Given the description of an element on the screen output the (x, y) to click on. 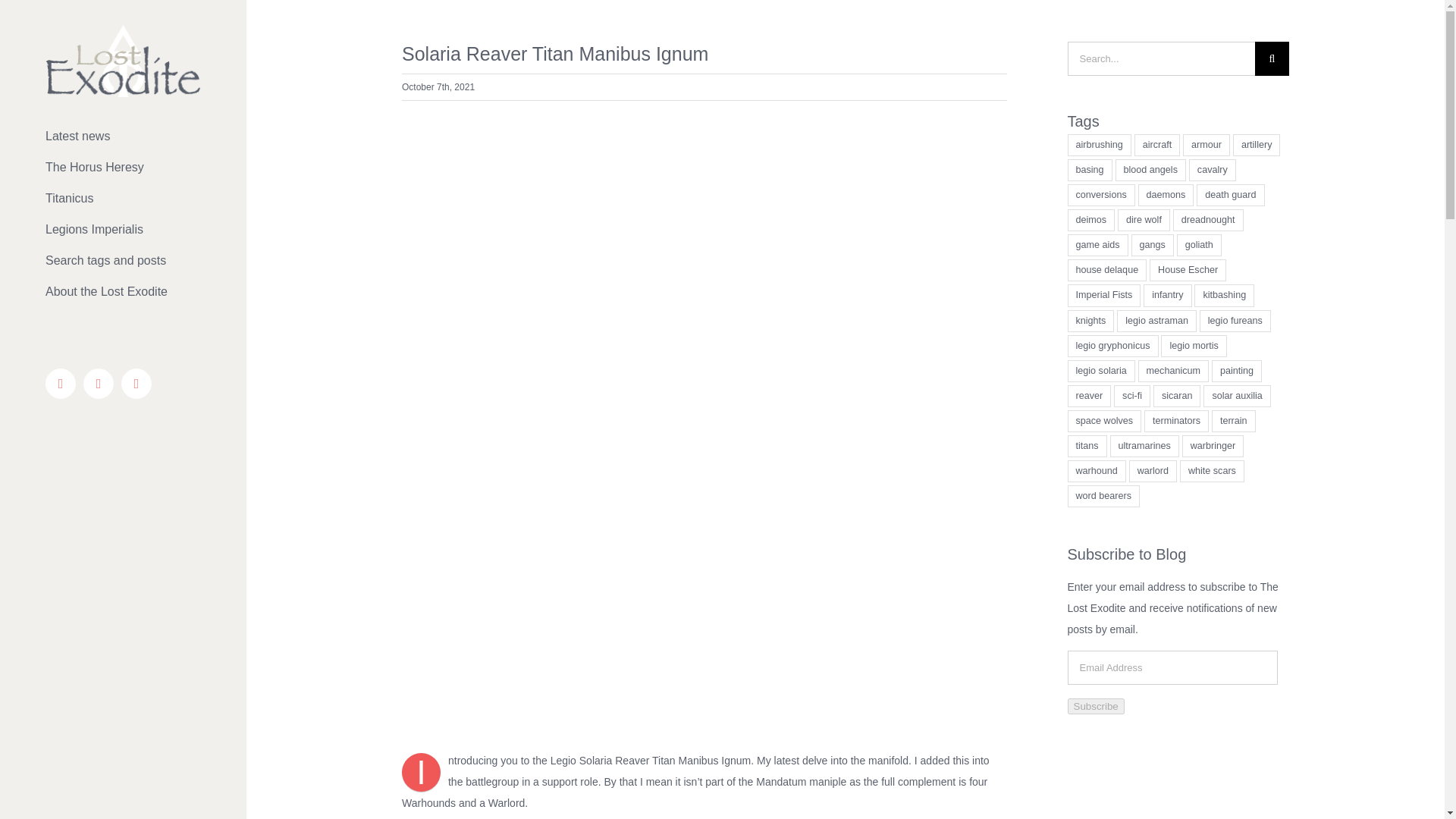
Search tags and posts (123, 260)
The Horus Heresy (123, 167)
armour (1206, 145)
YouTube (135, 383)
Titanicus (123, 198)
Facebook (60, 383)
YouTube (135, 383)
Instagram (97, 383)
Legions Imperialis (123, 229)
Latest news (123, 136)
